Given the description of an element on the screen output the (x, y) to click on. 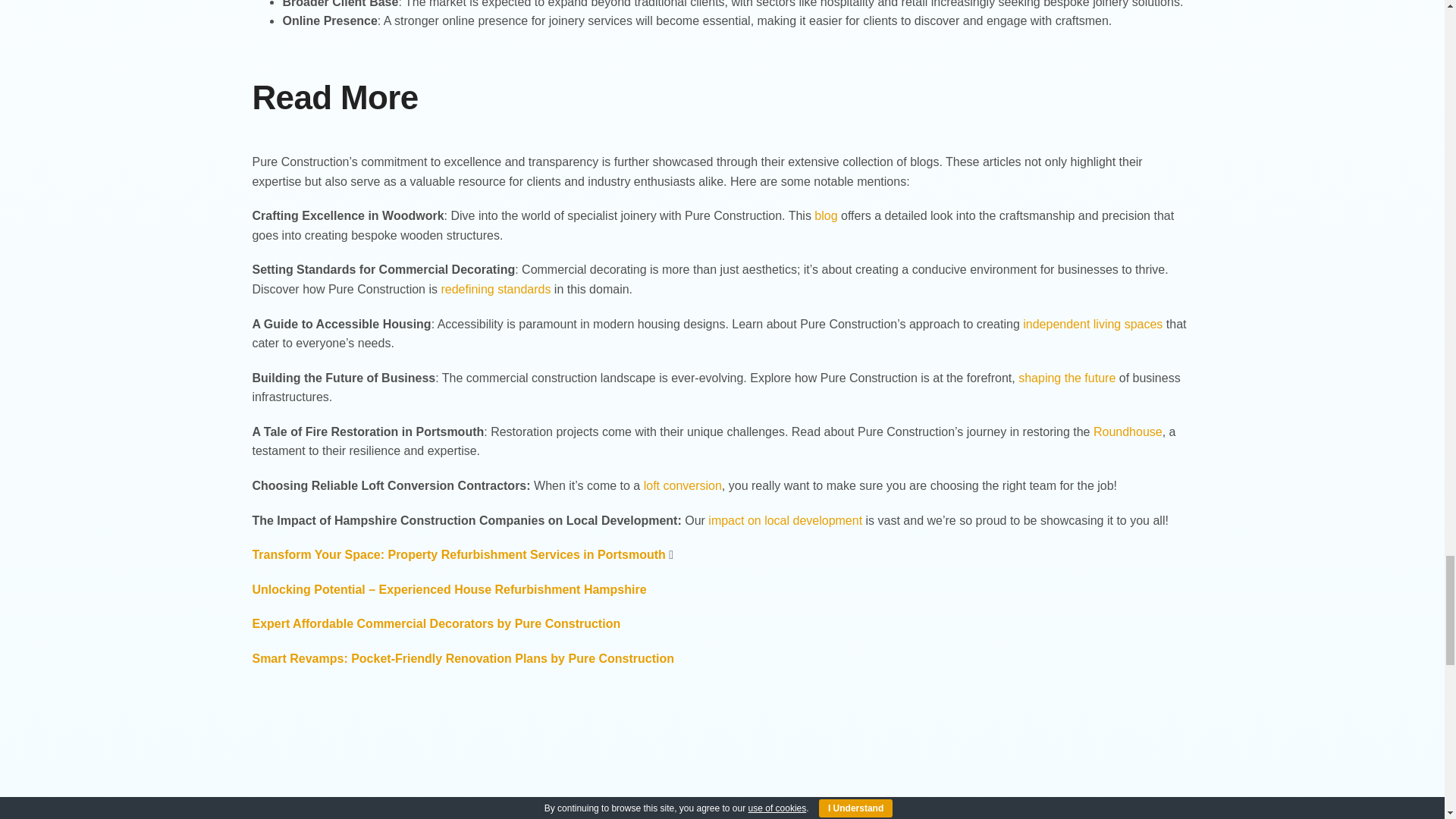
Roundhouse (1127, 431)
redefining standards (495, 288)
shaping the future (1066, 377)
blog (825, 215)
independent living spaces (1092, 323)
